Given the description of an element on the screen output the (x, y) to click on. 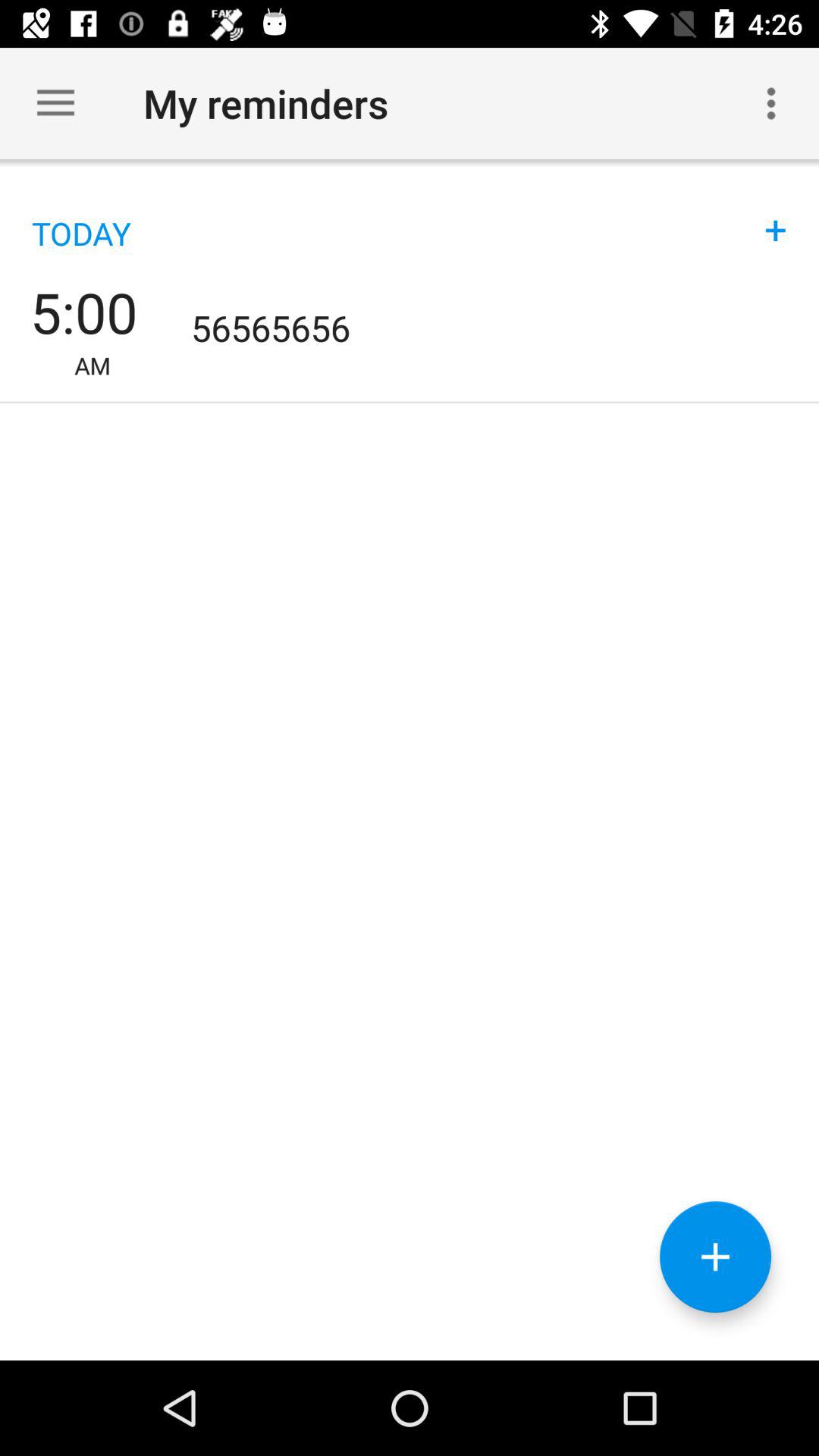
add button (715, 1256)
